Given the description of an element on the screen output the (x, y) to click on. 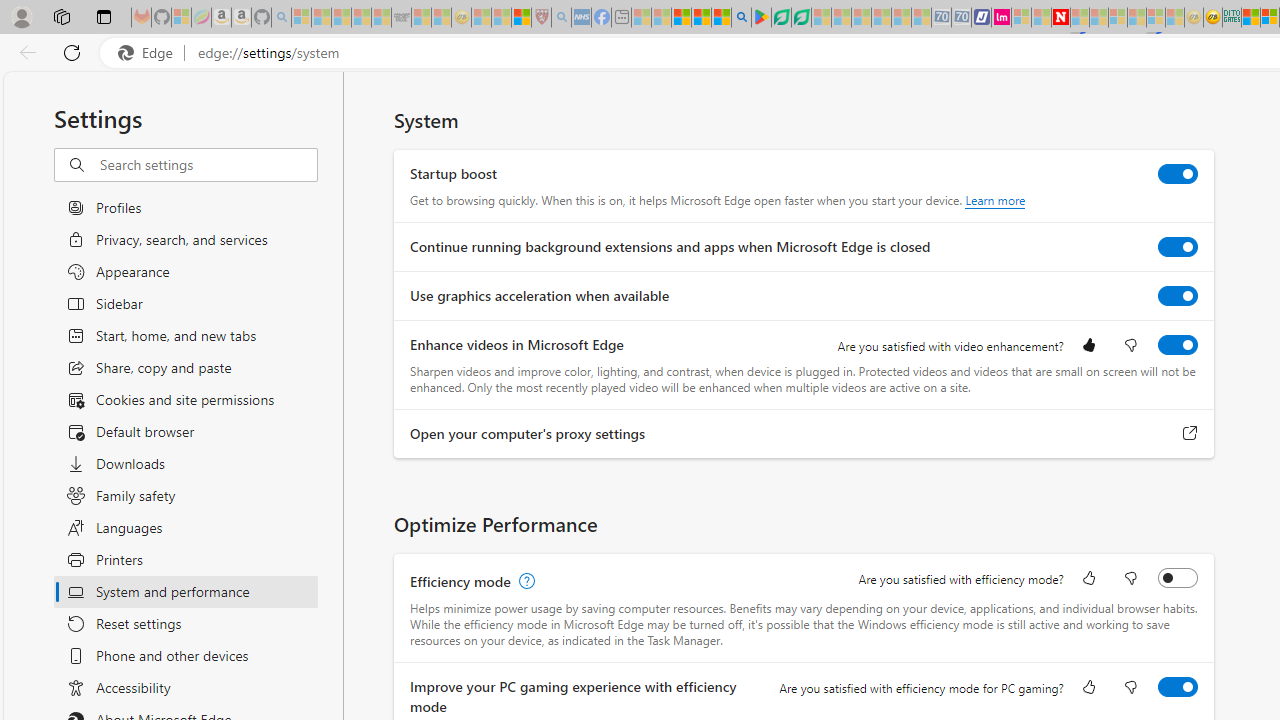
Cheap Hotels - Save70.com - Sleeping (961, 17)
Efficiency mode (1178, 578)
Open your computer's proxy settings (1190, 434)
MSNBC - MSN - Sleeping (641, 17)
